Given the description of an element on the screen output the (x, y) to click on. 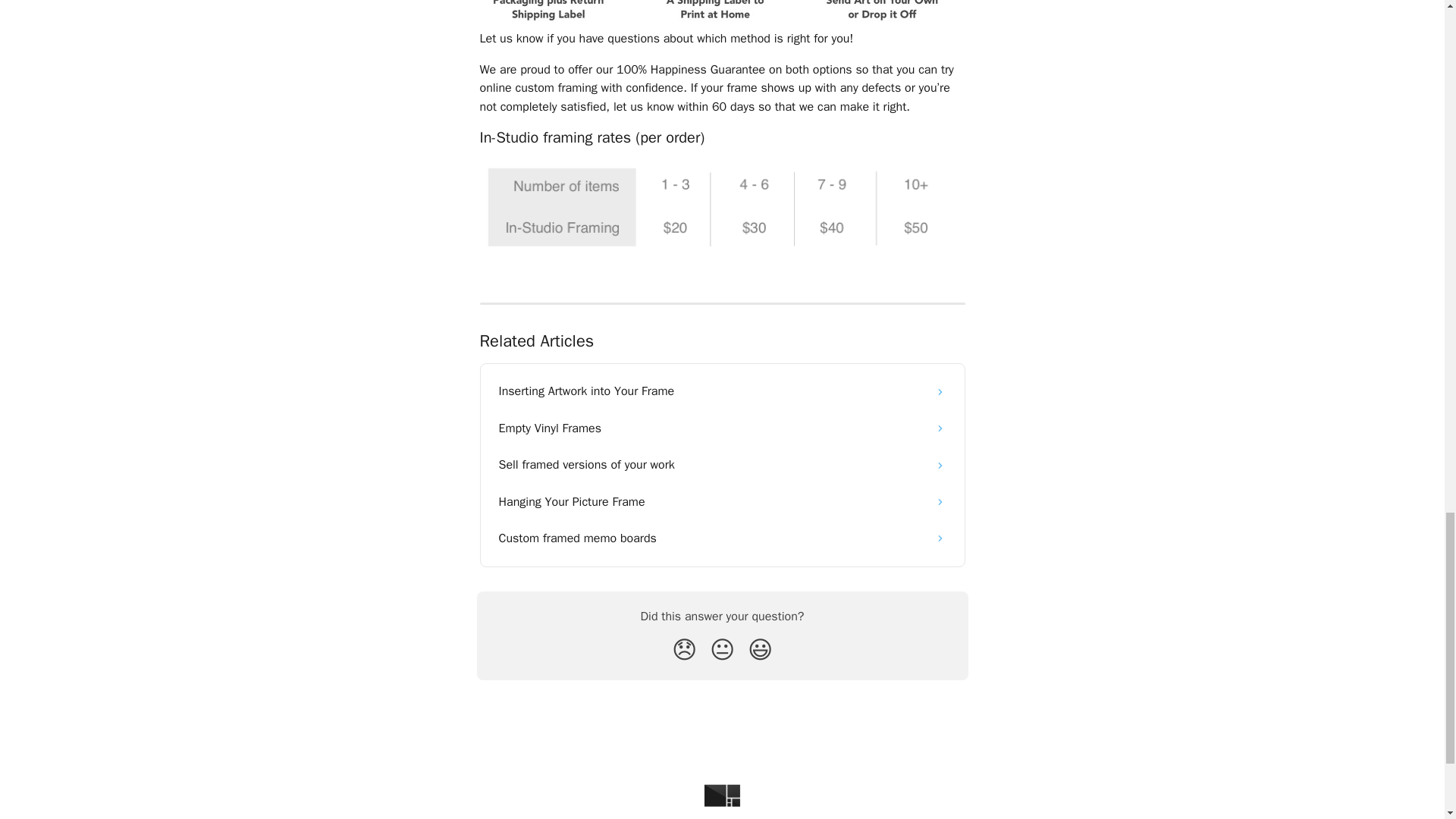
Custom framed memo boards (722, 538)
Hanging Your Picture Frame (722, 502)
Empty Vinyl Frames (722, 428)
Sell framed versions of your work (722, 464)
Inserting Artwork into Your Frame (722, 391)
